Given the description of an element on the screen output the (x, y) to click on. 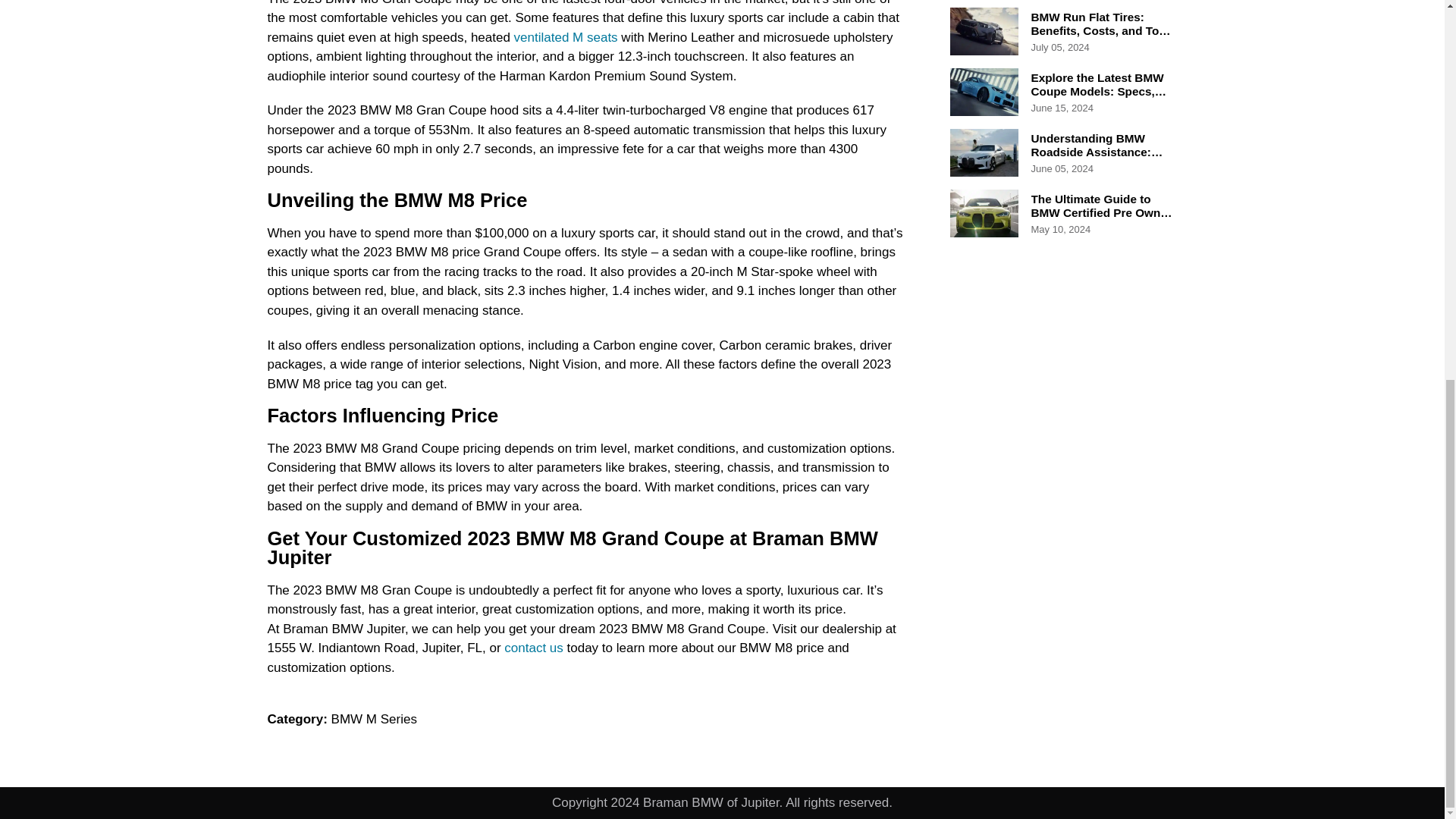
BMW M Series (373, 718)
contact us (531, 647)
BMW X5 vs X7: Comparing Luxury, Performance, and Features (1089, 2)
ventilated M seats (565, 37)
